Given the description of an element on the screen output the (x, y) to click on. 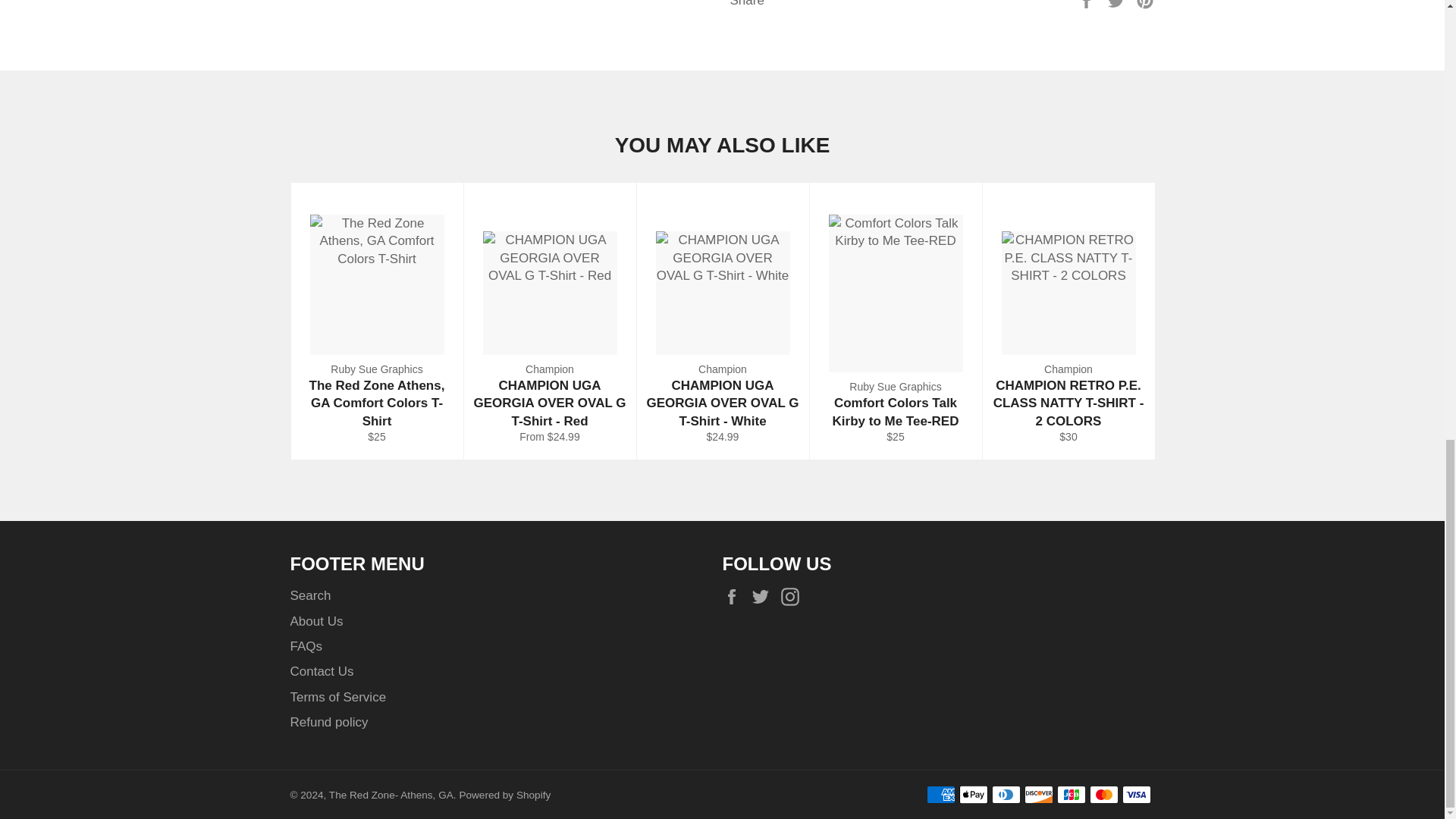
Tweet on Twitter (1117, 3)
The Red Zone- Athens, GA on Twitter (764, 596)
The Red Zone- Athens, GA on Facebook (735, 596)
The Red Zone- Athens, GA on Instagram (793, 596)
Share on Facebook (1088, 3)
Pin on Pinterest (1144, 3)
